Given the description of an element on the screen output the (x, y) to click on. 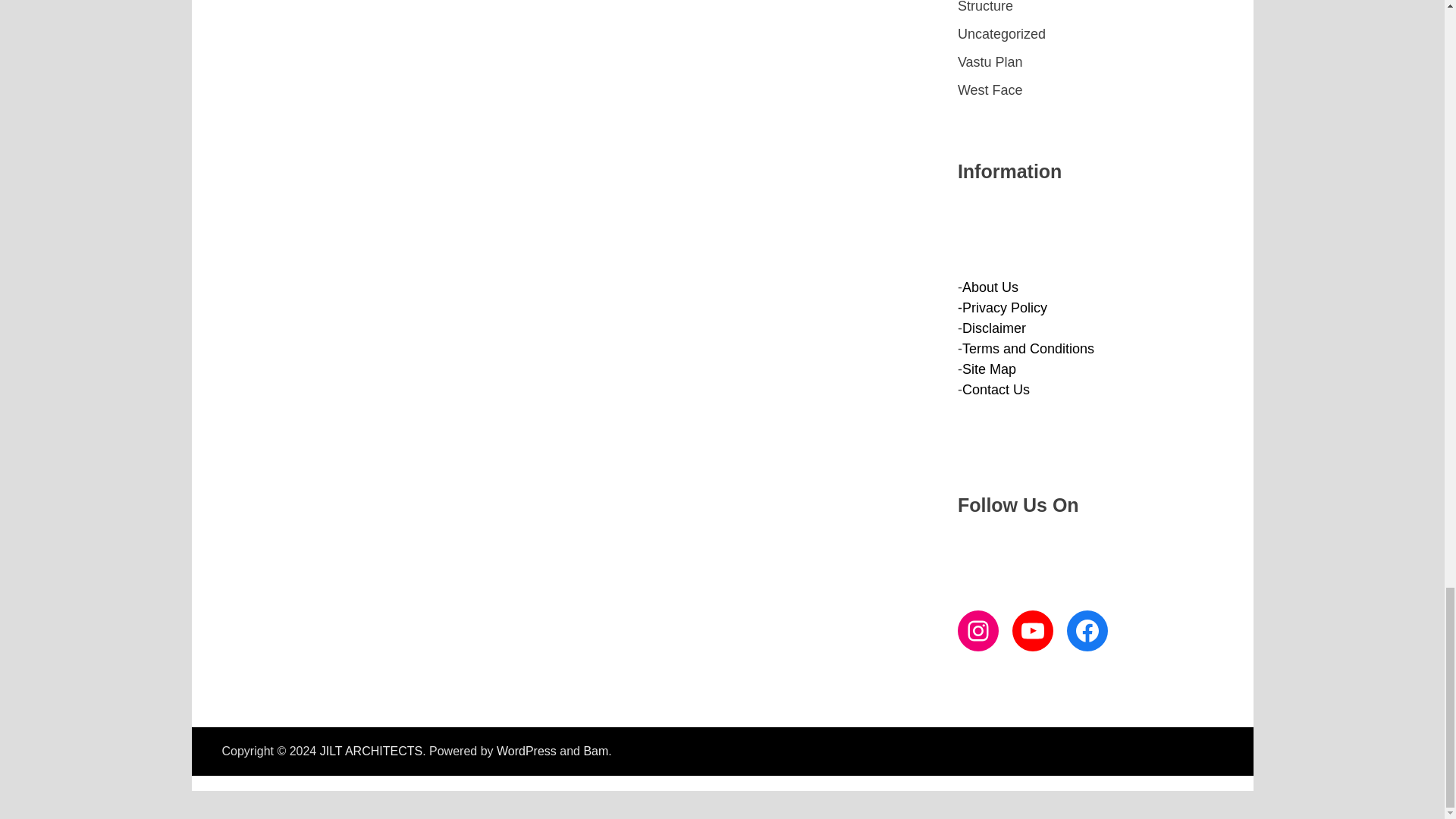
JILT ARCHITECTS (371, 750)
